Given the description of an element on the screen output the (x, y) to click on. 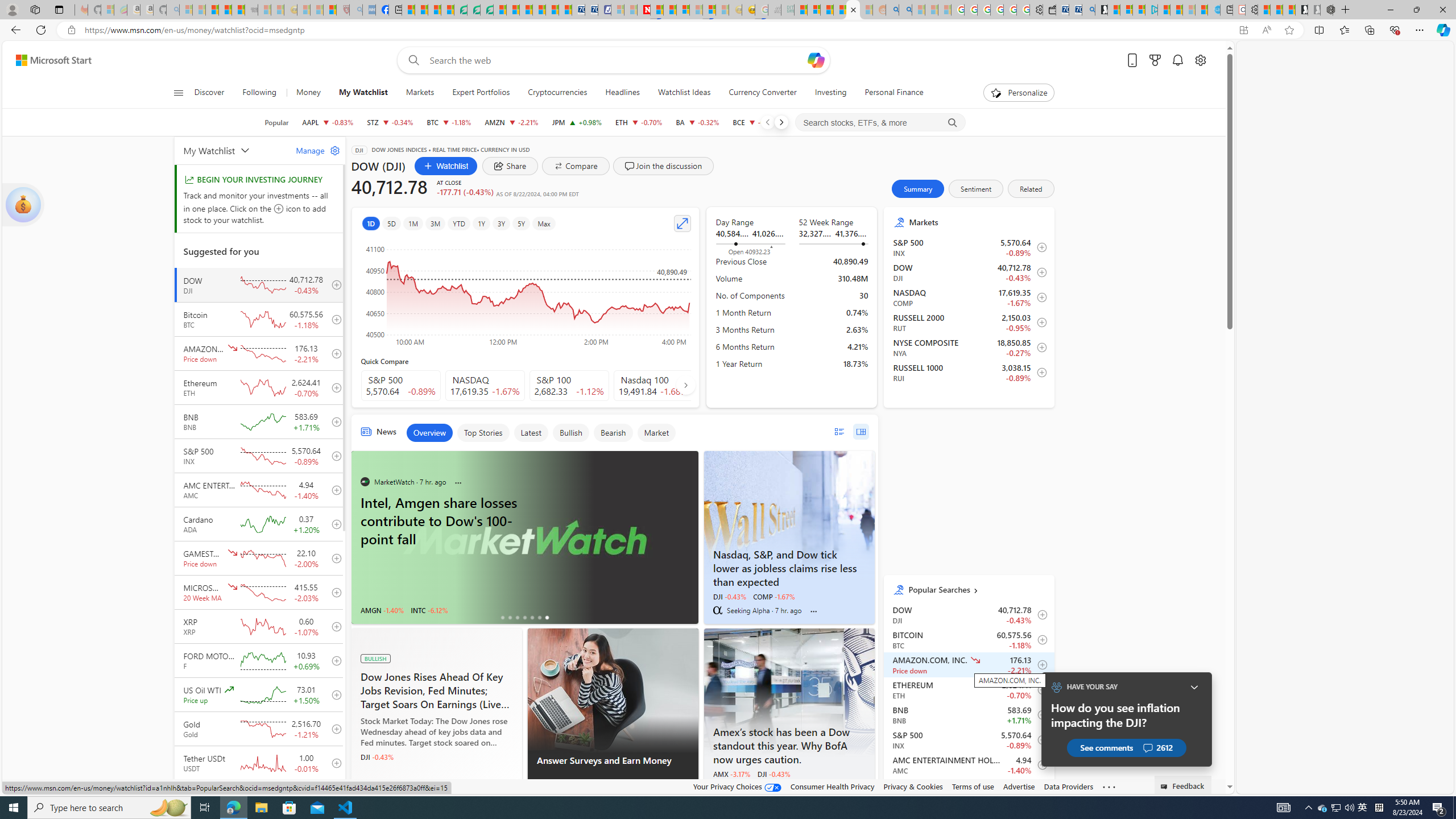
Top Stories (483, 432)
Student Loan Update: Forgiveness Program Ends This Month (839, 9)
Popular Searches (976, 589)
COMP -1.67% (773, 596)
Bing Real Estate - Home sales and rental listings (1088, 9)
BTC Bitcoin decrease 60,575.56 -716.61 -1.18% itemundefined (968, 639)
LendingTree - Compare Lenders (460, 9)
